Given the description of an element on the screen output the (x, y) to click on. 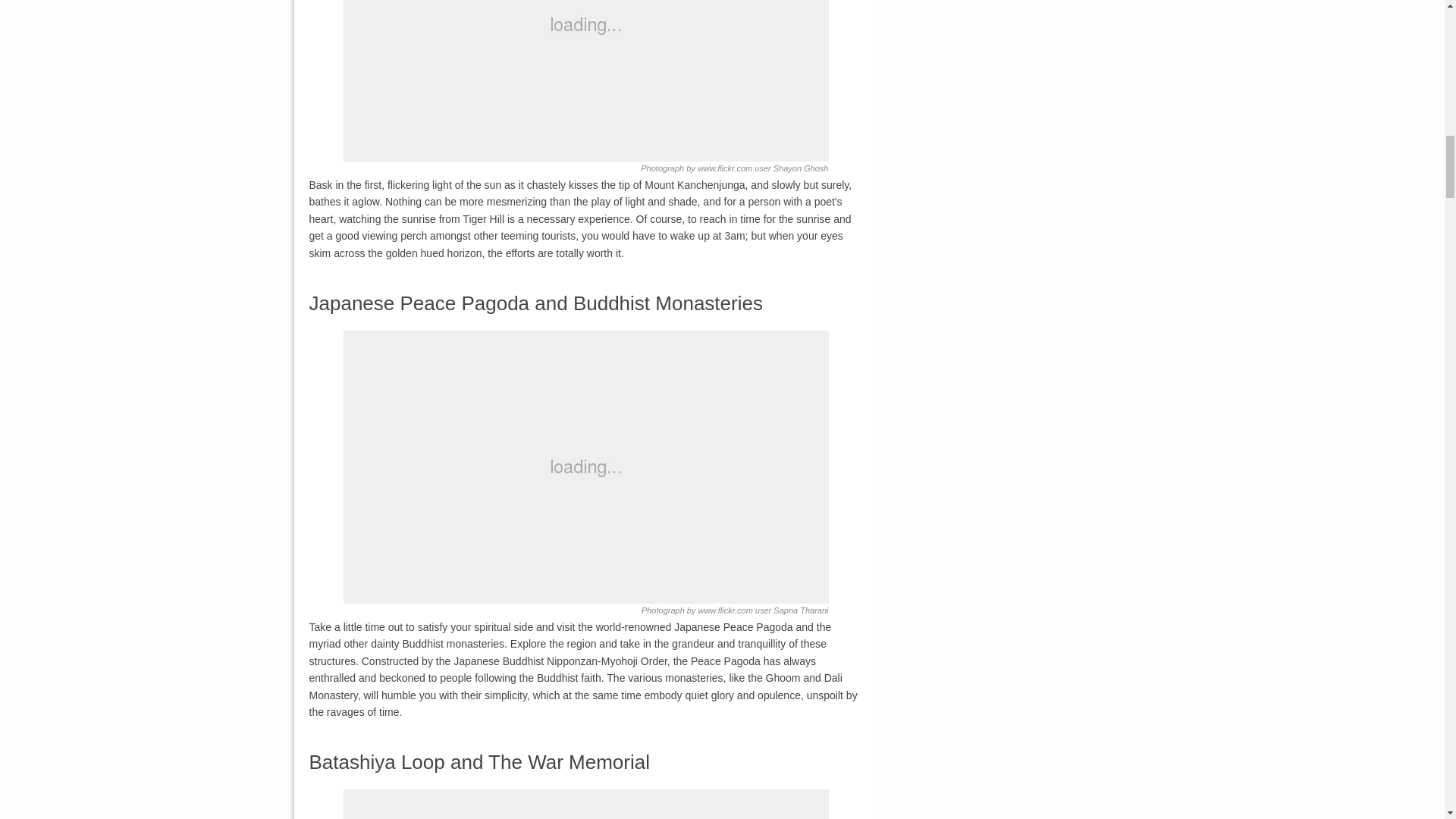
Tiger Hill:  Tourist Places To Visit In Darjeeling (585, 80)
